Given the description of an element on the screen output the (x, y) to click on. 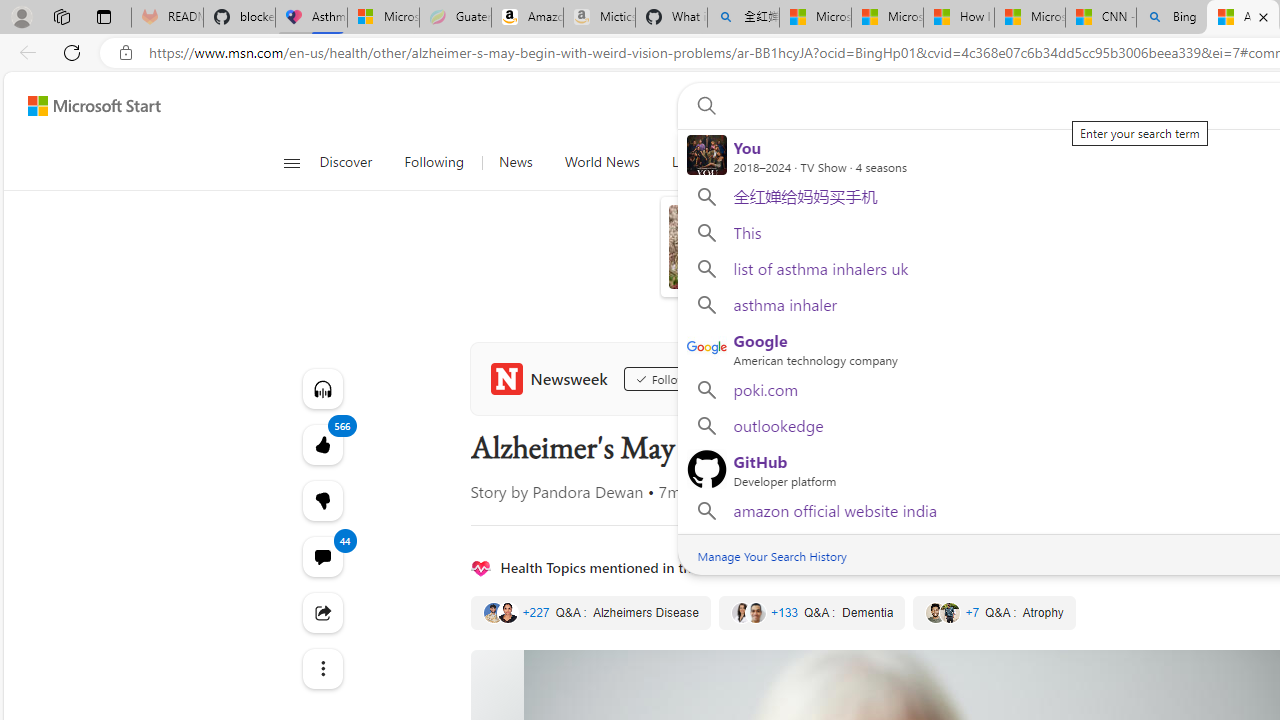
Technology (849, 162)
anim-content (768, 255)
LendingTree (938, 280)
Crime (933, 162)
Lifestyle (1206, 162)
Lifestyle (1205, 162)
Politics (1005, 162)
Class: quote-thumbnail (950, 612)
